Given the description of an element on the screen output the (x, y) to click on. 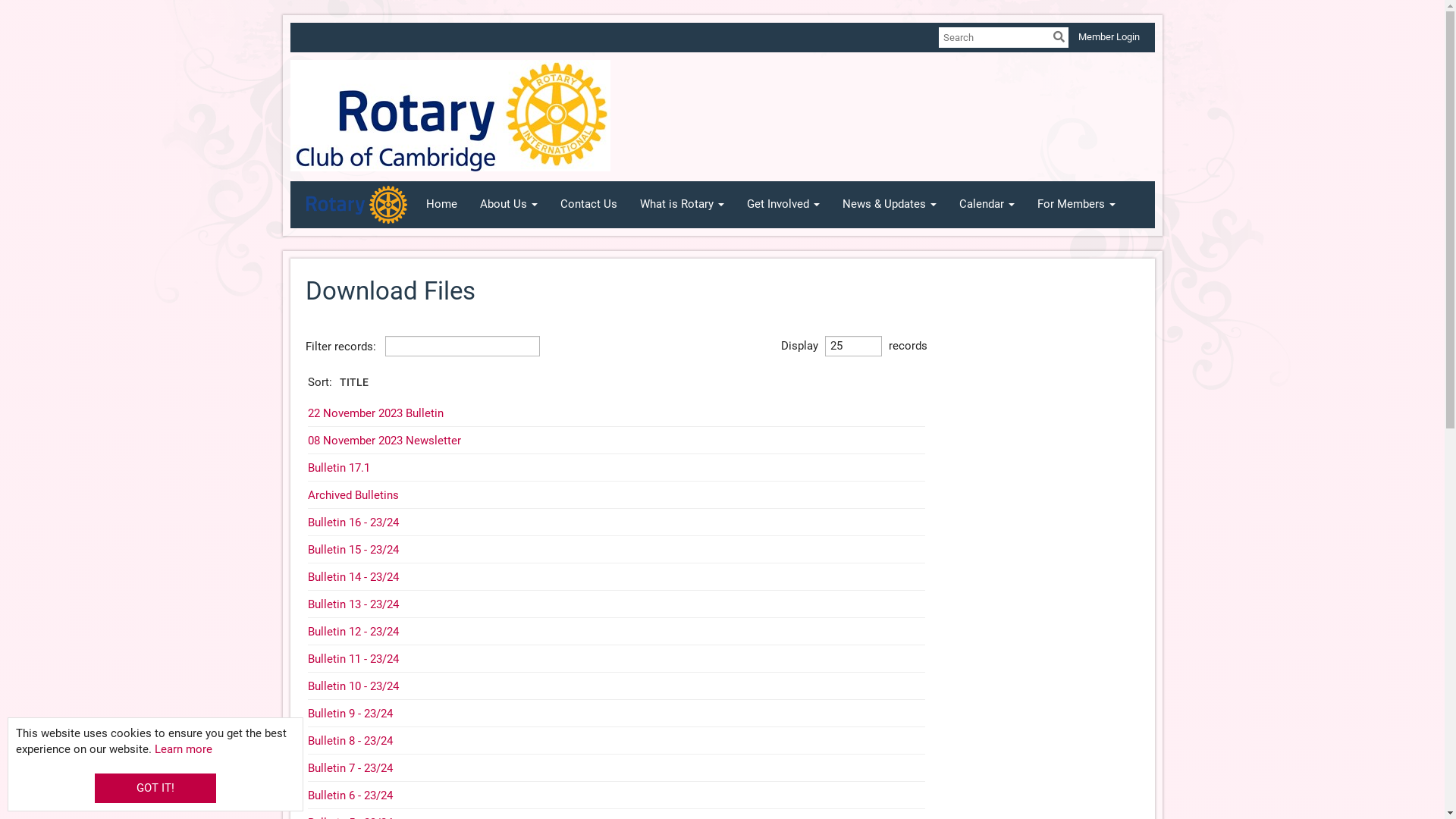
Contact Us Element type: text (588, 204)
08 November 2023 Newsletter Element type: text (384, 440)
22 November 2023 Bulletin Element type: text (375, 413)
Bulletin 10 - 23/24 Element type: text (352, 686)
Bulletin 6 - 23/24 Element type: text (349, 795)
About Us Element type: text (508, 204)
Calendar Element type: text (986, 204)
Learn more Element type: text (183, 749)
Bulletin 11 - 23/24 Element type: text (352, 658)
GOT IT! Element type: text (155, 788)
Bulletin 7 - 23/24 Element type: text (349, 768)
Home Element type: text (441, 204)
Bulletin 12 - 23/24 Element type: text (352, 631)
Get Involved Element type: text (783, 204)
Bulletin 8 - 23/24 Element type: text (349, 740)
Member Login Element type: text (1108, 36)
For Members Element type: text (1076, 204)
Bulletin 17.1 Element type: text (338, 467)
What is Rotary Element type: text (681, 204)
Bulletin 9 - 23/24 Element type: text (349, 713)
Bulletin 13 - 23/24 Element type: text (352, 604)
Bulletin 16 - 23/24 Element type: text (352, 522)
Bulletin 14 - 23/24 Element type: text (352, 576)
Bulletin 15 - 23/24 Element type: text (352, 549)
Archived Bulletins Element type: text (352, 495)
News & Updates Element type: text (889, 204)
